Given the description of an element on the screen output the (x, y) to click on. 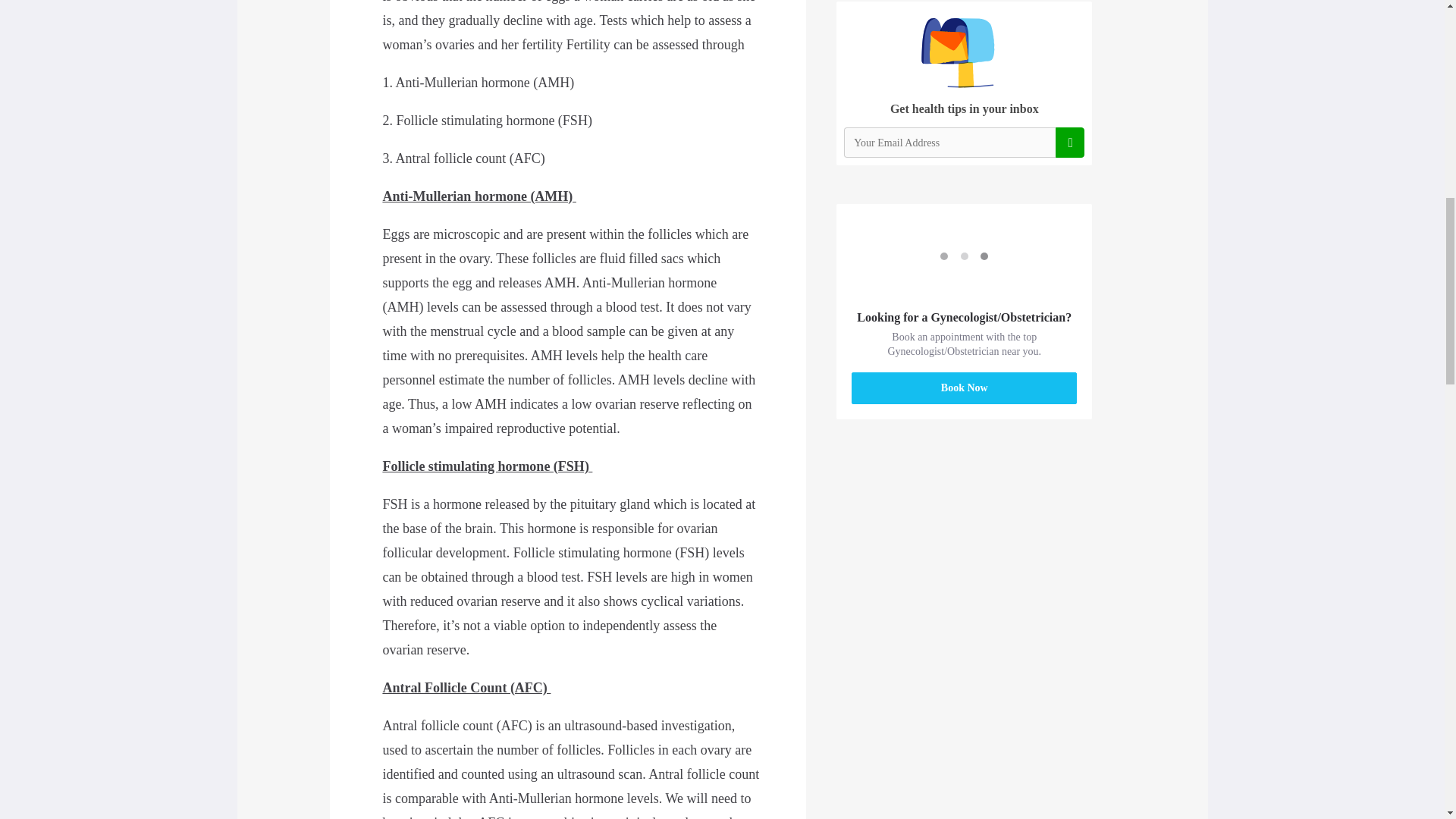
Book Now (964, 388)
